Given the description of an element on the screen output the (x, y) to click on. 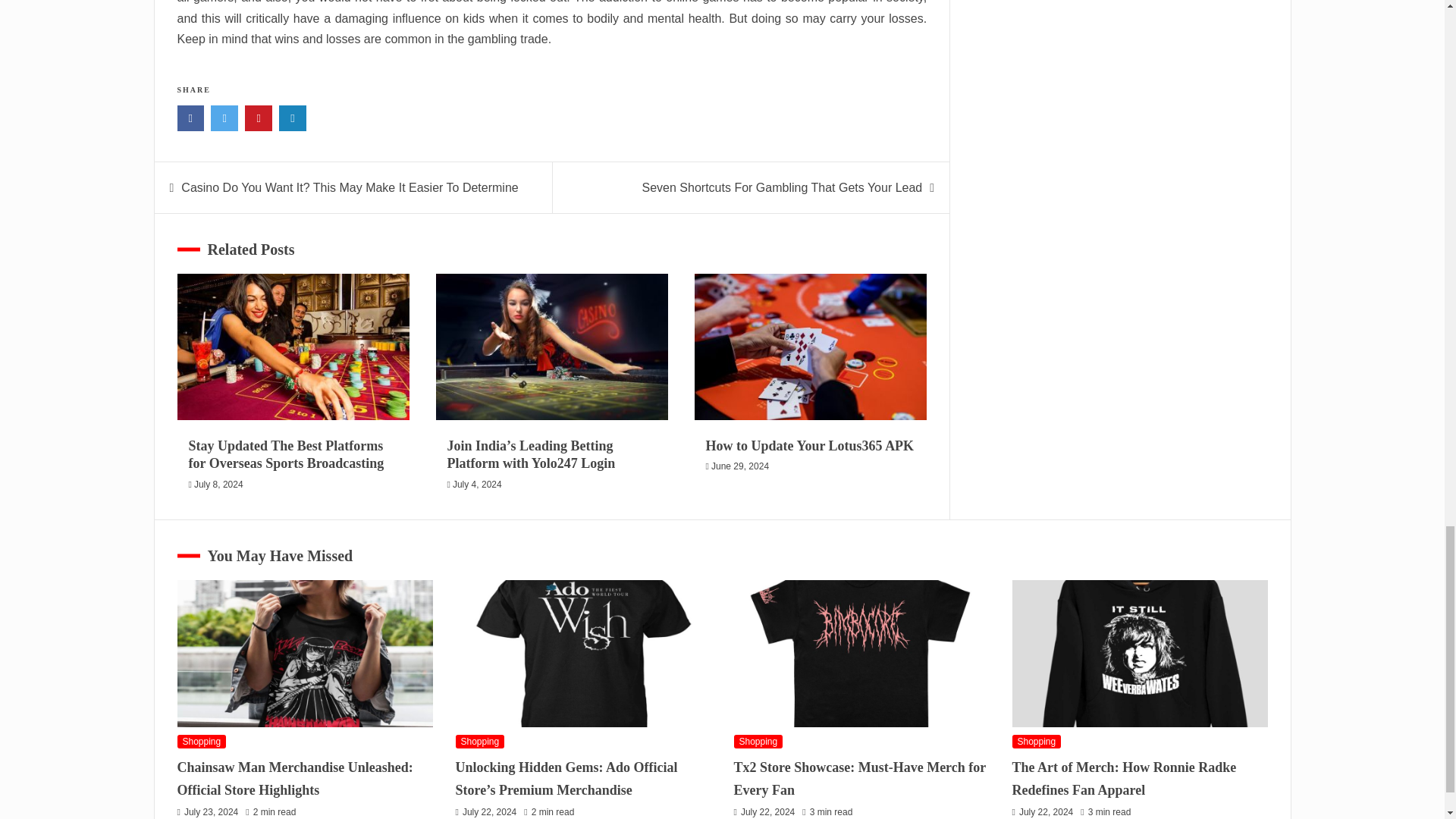
July 4, 2024 (477, 484)
July 8, 2024 (218, 484)
How to Update Your Lotus365 APK (810, 445)
June 29, 2024 (739, 466)
Seven Shortcuts For Gambling That Gets Your Lead (782, 187)
Casino Do You Want It? This May Make It Easier To Determine (349, 187)
